Given the description of an element on the screen output the (x, y) to click on. 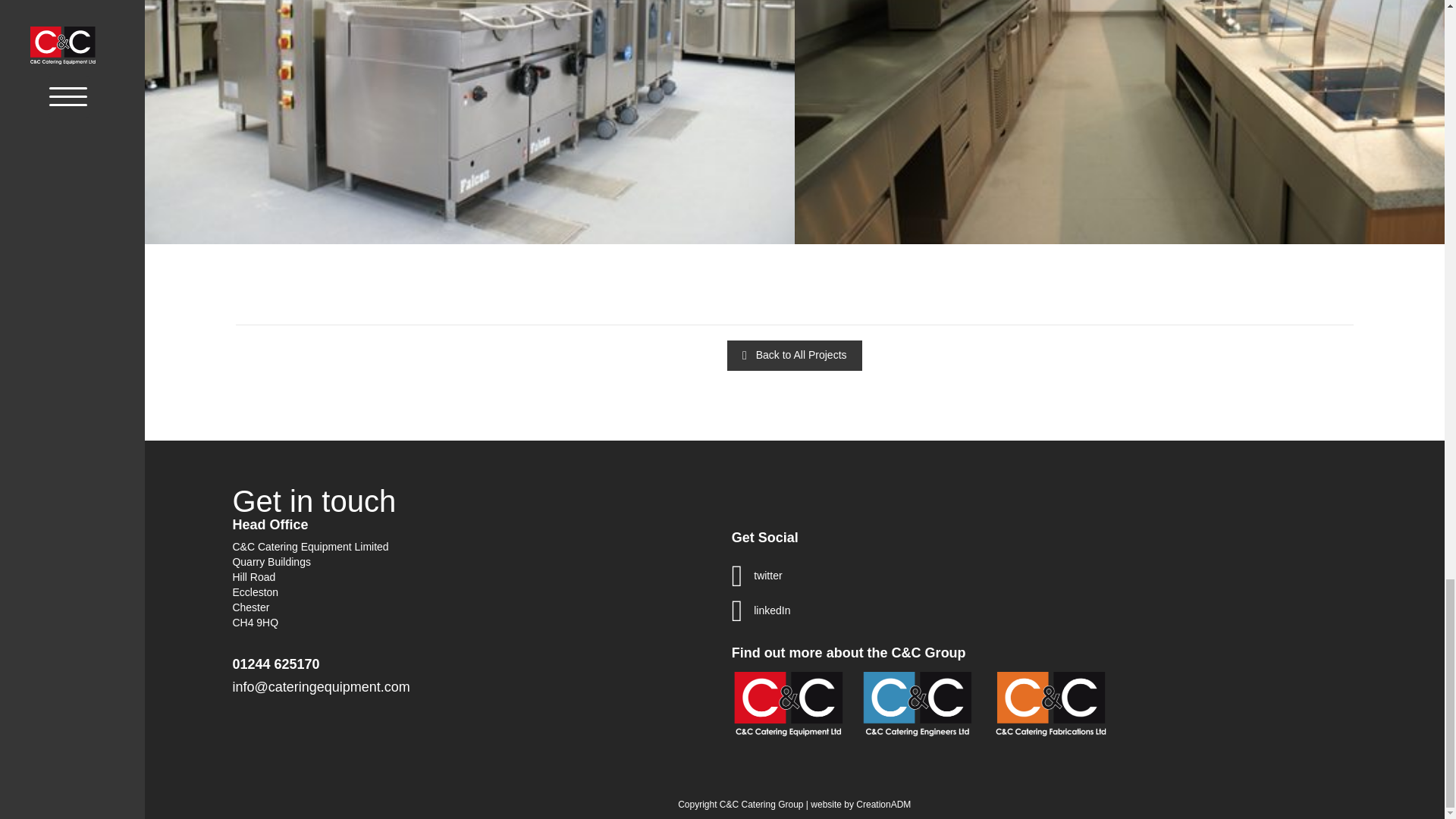
linkedIn (772, 611)
Back to All Projects (793, 355)
twitter (767, 575)
